Given the description of an element on the screen output the (x, y) to click on. 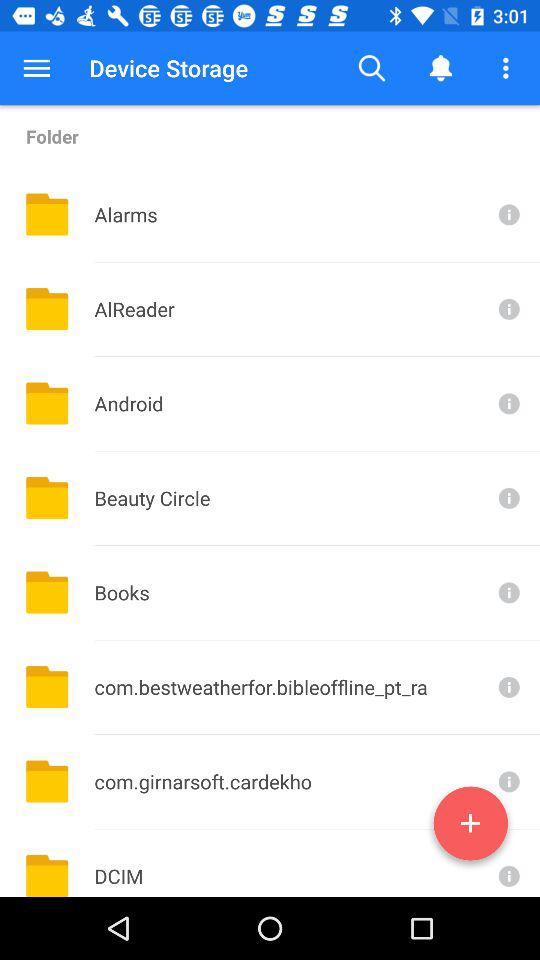
more information (507, 863)
